Given the description of an element on the screen output the (x, y) to click on. 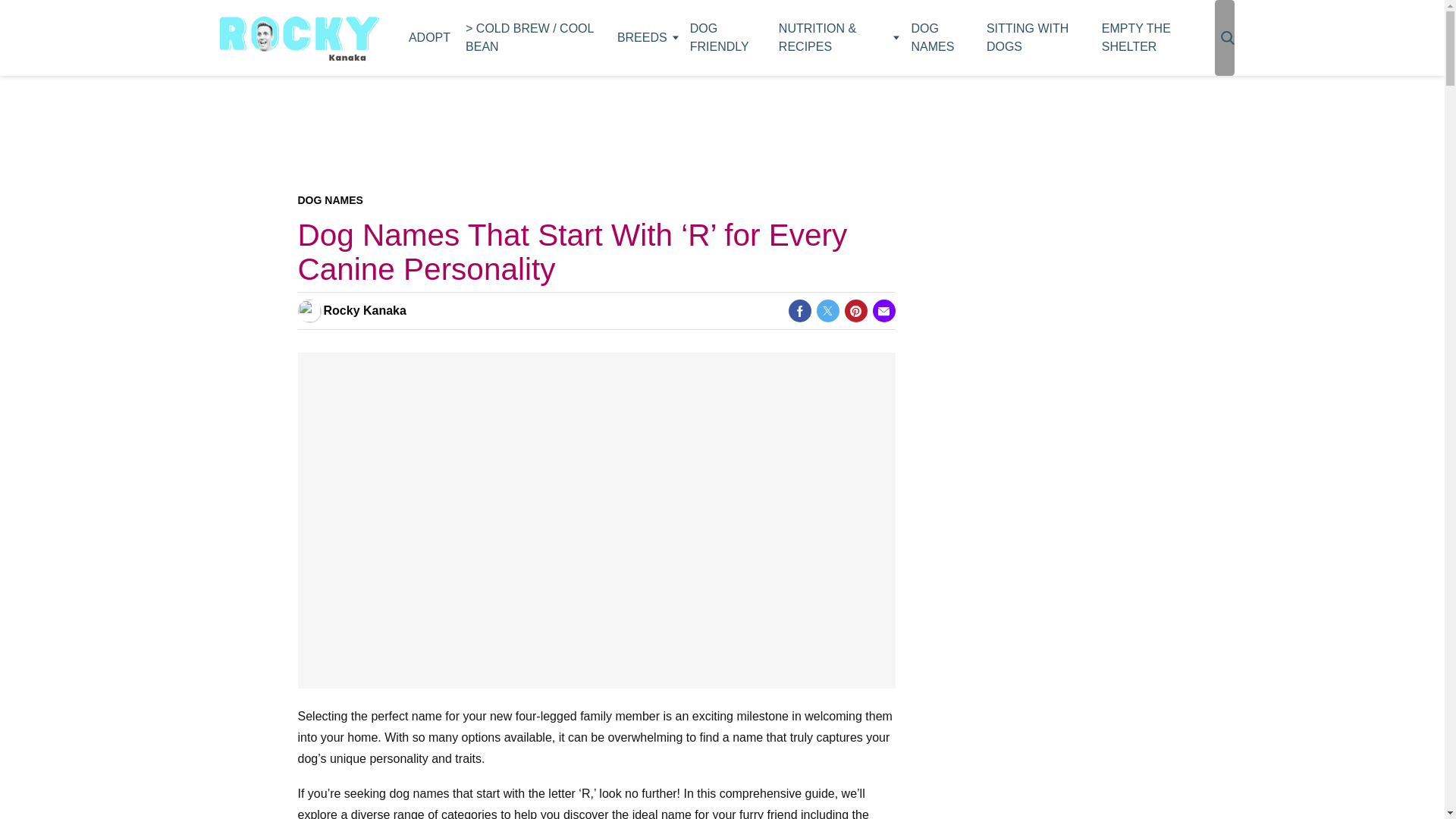
ADOPT (429, 37)
Posts by Rocky Kanaka (364, 310)
BREEDS (646, 37)
